Given the description of an element on the screen output the (x, y) to click on. 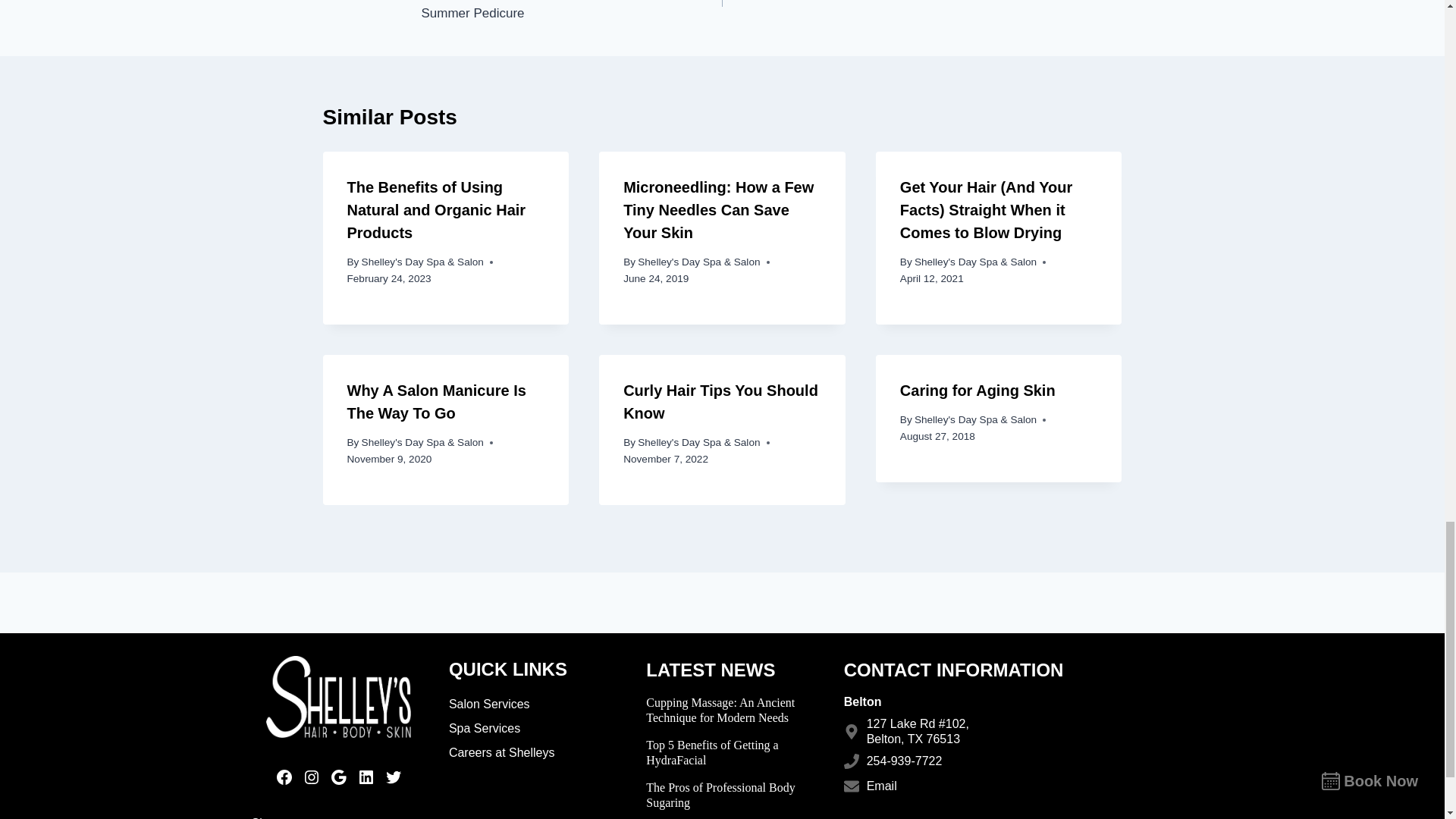
Microneedling: How a Few Tiny Needles Can Save Your Skin (718, 209)
The Benefits of Using Natural and Organic Hair Products (436, 209)
